Given the description of an element on the screen output the (x, y) to click on. 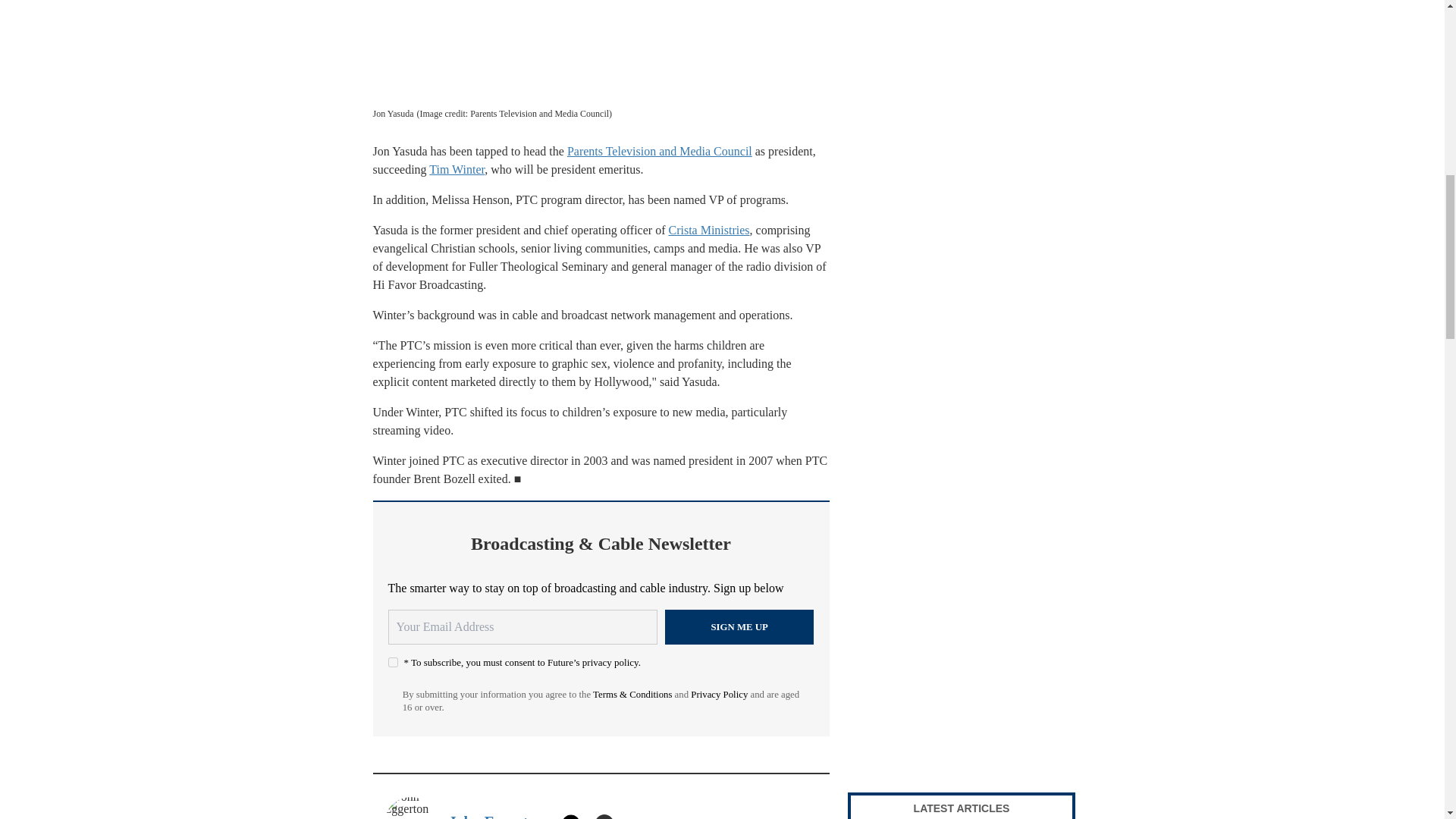
Tim Winter (456, 169)
Crista Ministries (708, 229)
Sign me up (739, 626)
Parents Television and Media Council (659, 151)
on (392, 662)
